Given the description of an element on the screen output the (x, y) to click on. 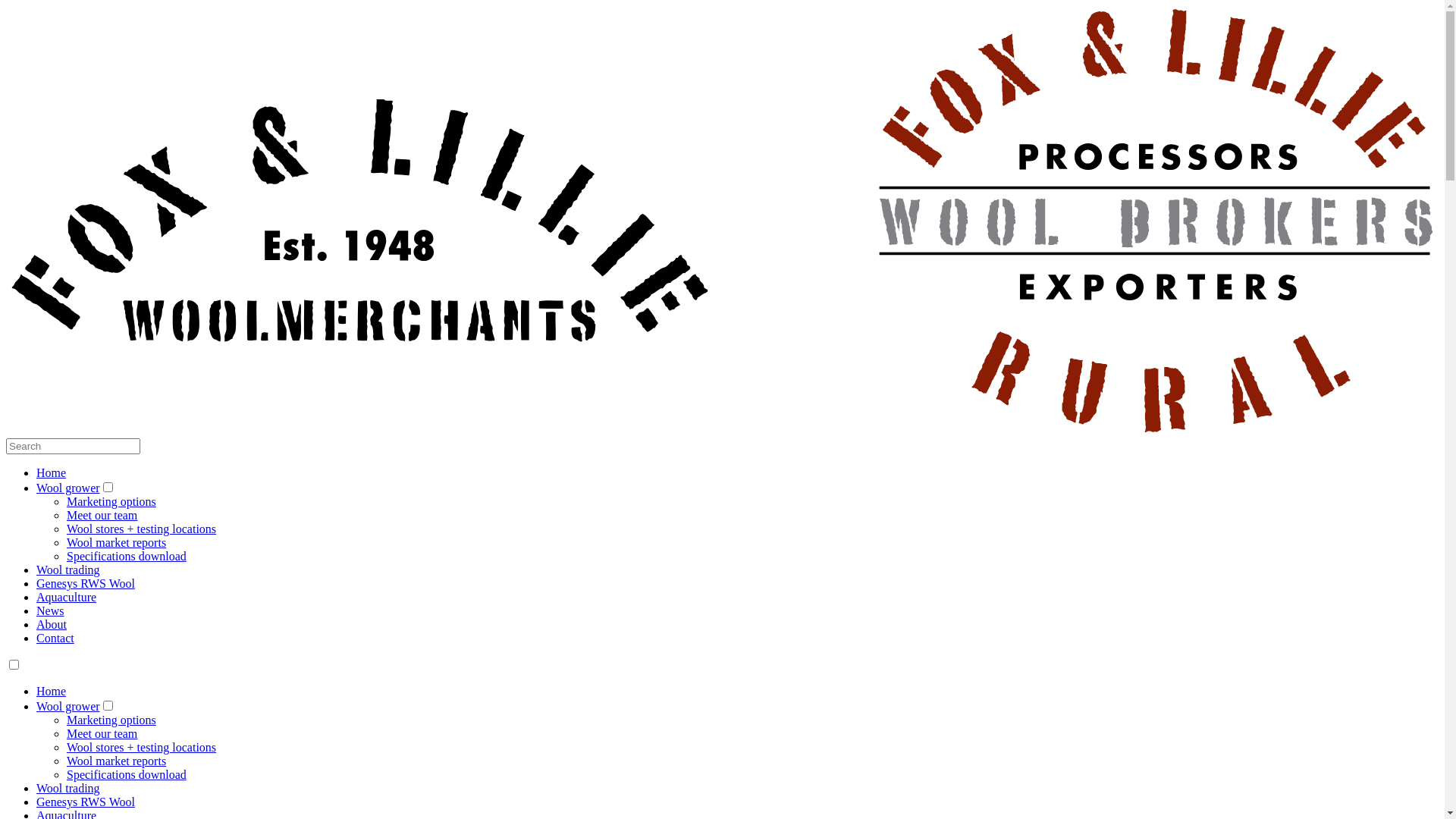
Wool stores + testing locations Element type: text (141, 746)
Home Element type: text (50, 690)
Genesys RWS Wool Element type: text (85, 583)
Meet our team Element type: text (101, 514)
Wool grower Element type: text (68, 705)
Genesys RWS Wool Element type: text (85, 801)
About Element type: text (51, 624)
Wool market reports Element type: text (116, 542)
Wool trading Element type: text (68, 569)
Wool stores + testing locations Element type: text (141, 528)
Marketing options Element type: text (111, 501)
Wool grower Element type: text (68, 487)
Wool trading Element type: text (68, 787)
Home Element type: text (50, 472)
Aquaculture Element type: text (66, 596)
Contact Element type: text (55, 637)
Specifications download Element type: text (126, 774)
Marketing options Element type: text (111, 719)
News Element type: text (49, 610)
Specifications download Element type: text (126, 555)
Meet our team Element type: text (101, 733)
Wool market reports Element type: text (116, 760)
